Given the description of an element on the screen output the (x, y) to click on. 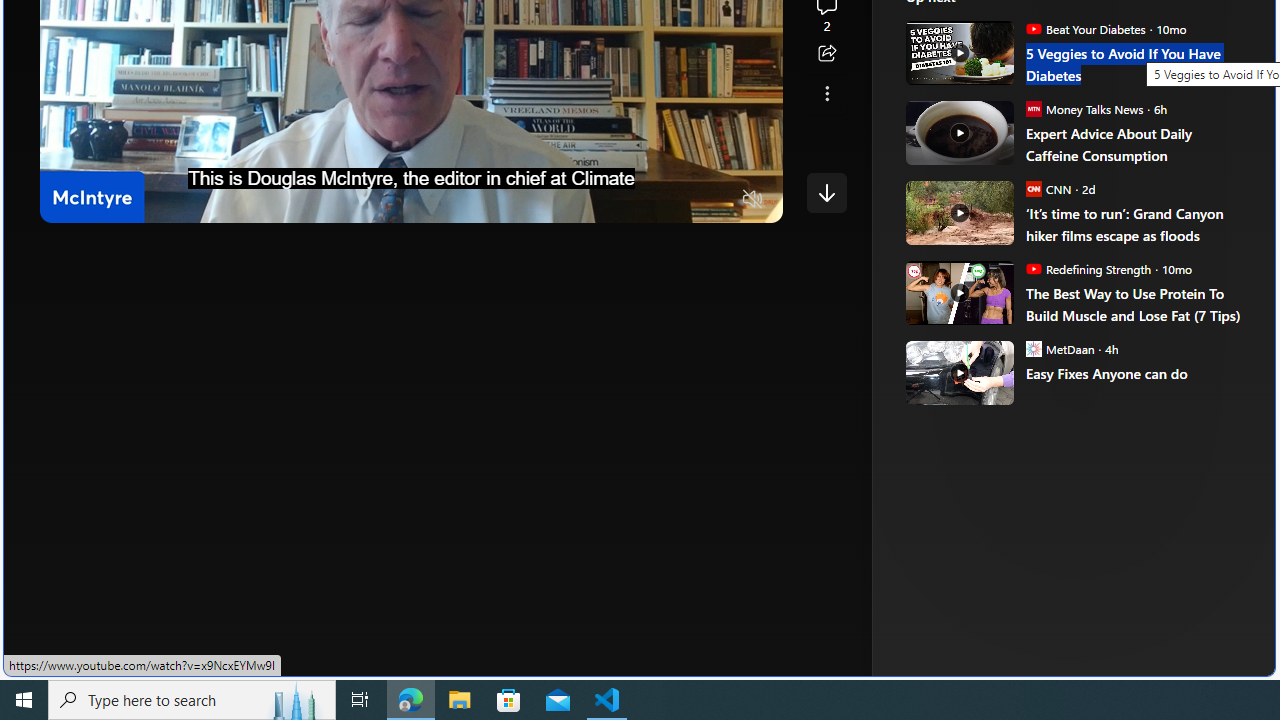
CNN (1033, 188)
MetDaan (1033, 348)
Expert Advice About Daily Caffeine Consumption (1136, 144)
Progress Bar (411, 174)
5 Veggies to Avoid If You Have Diabetes (1136, 64)
CNN CNN (1048, 188)
Share this story (826, 53)
Redefining Strength (1033, 268)
Class: control (826, 192)
Pause (69, 200)
